Given the description of an element on the screen output the (x, y) to click on. 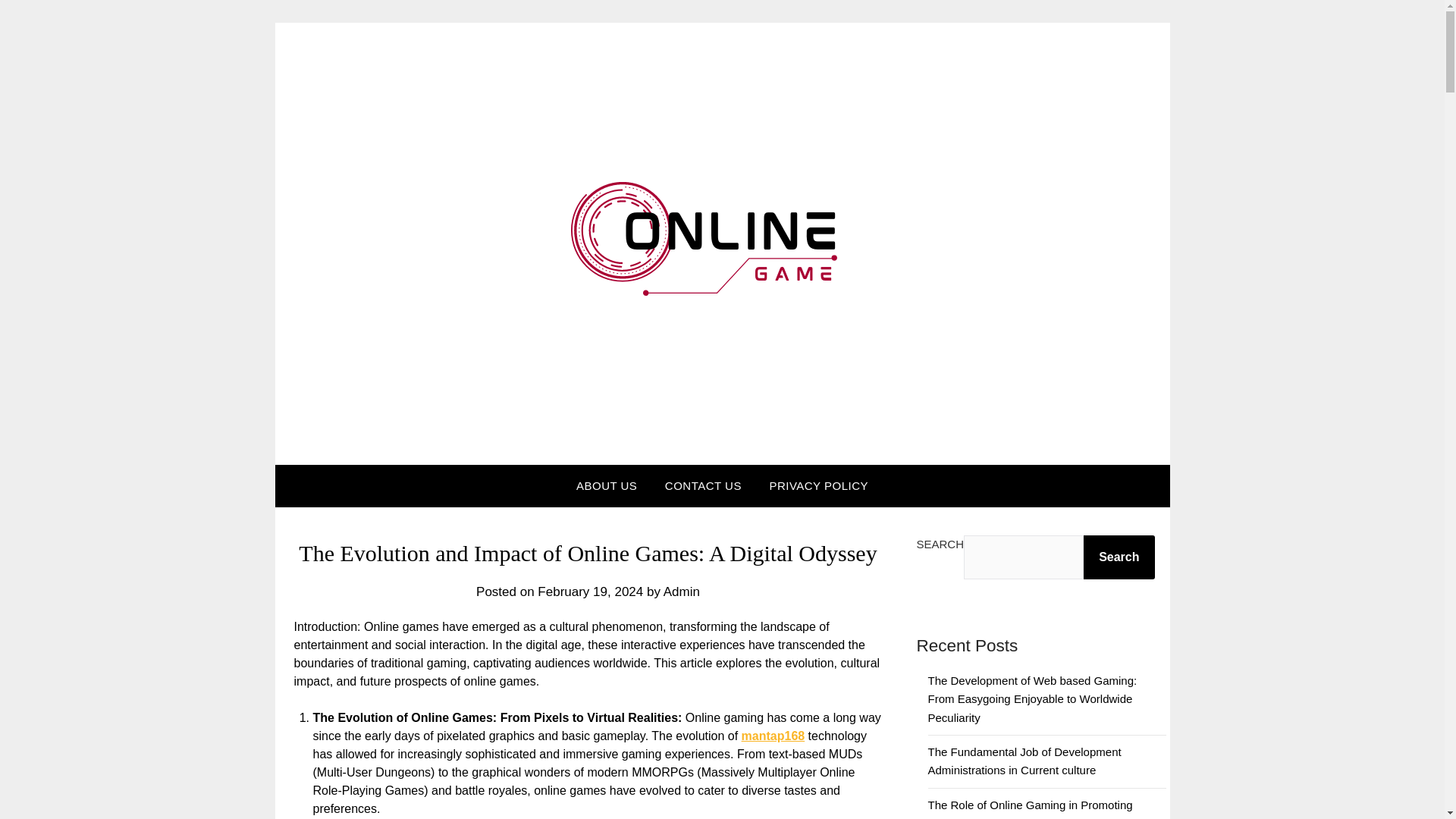
ABOUT US (606, 486)
PRIVACY POLICY (818, 486)
CONTACT US (703, 486)
Search (1118, 557)
The Role of Online Gaming in Promoting Empathy Skills (1030, 808)
February 19, 2024 (590, 591)
mantap168 (773, 735)
Admin (681, 591)
